Given the description of an element on the screen output the (x, y) to click on. 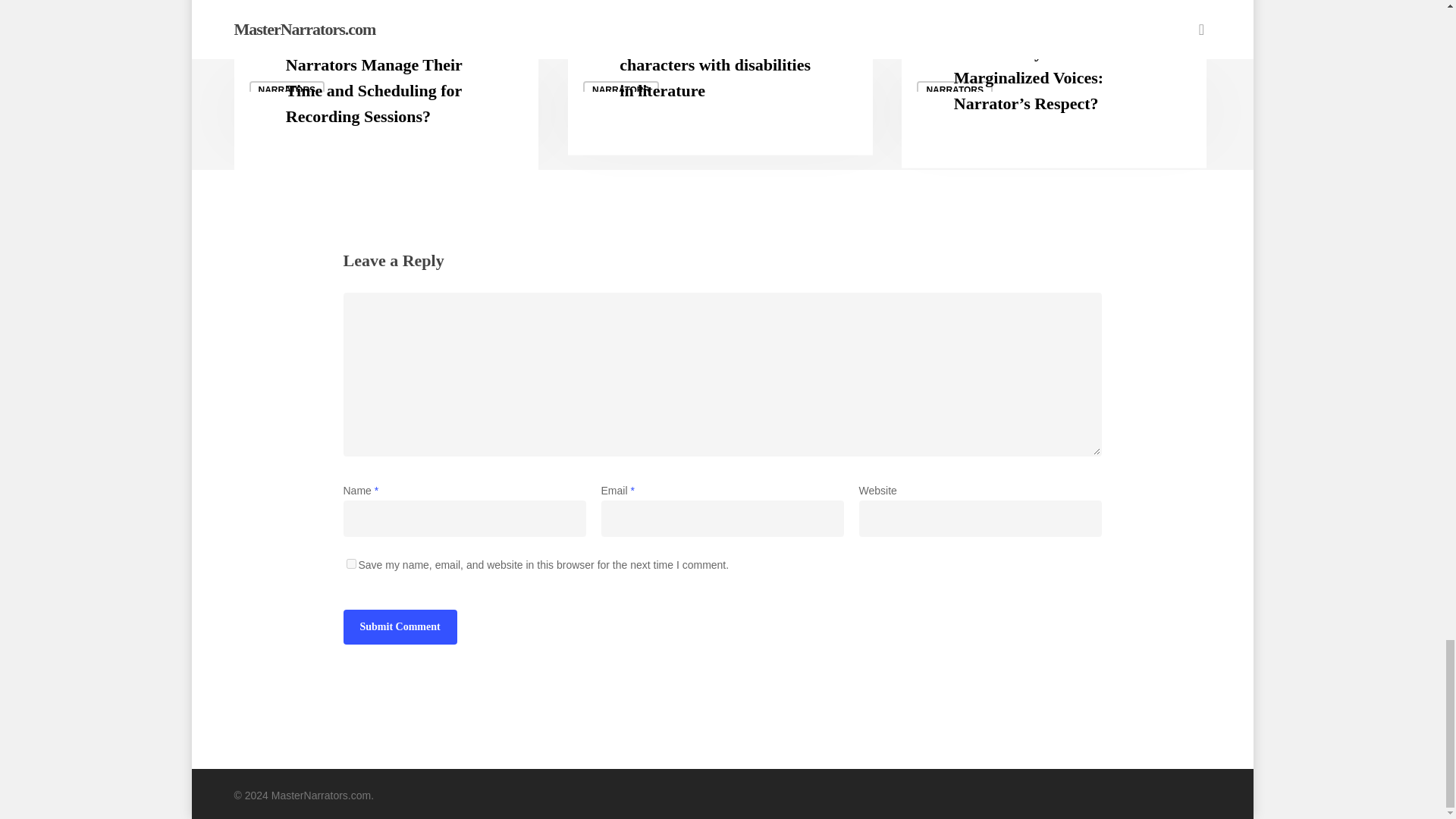
Submit Comment (399, 626)
NARRATORS (954, 90)
NARRATORS (286, 90)
yes (350, 563)
NARRATORS (621, 90)
Submit Comment (399, 626)
